Given the description of an element on the screen output the (x, y) to click on. 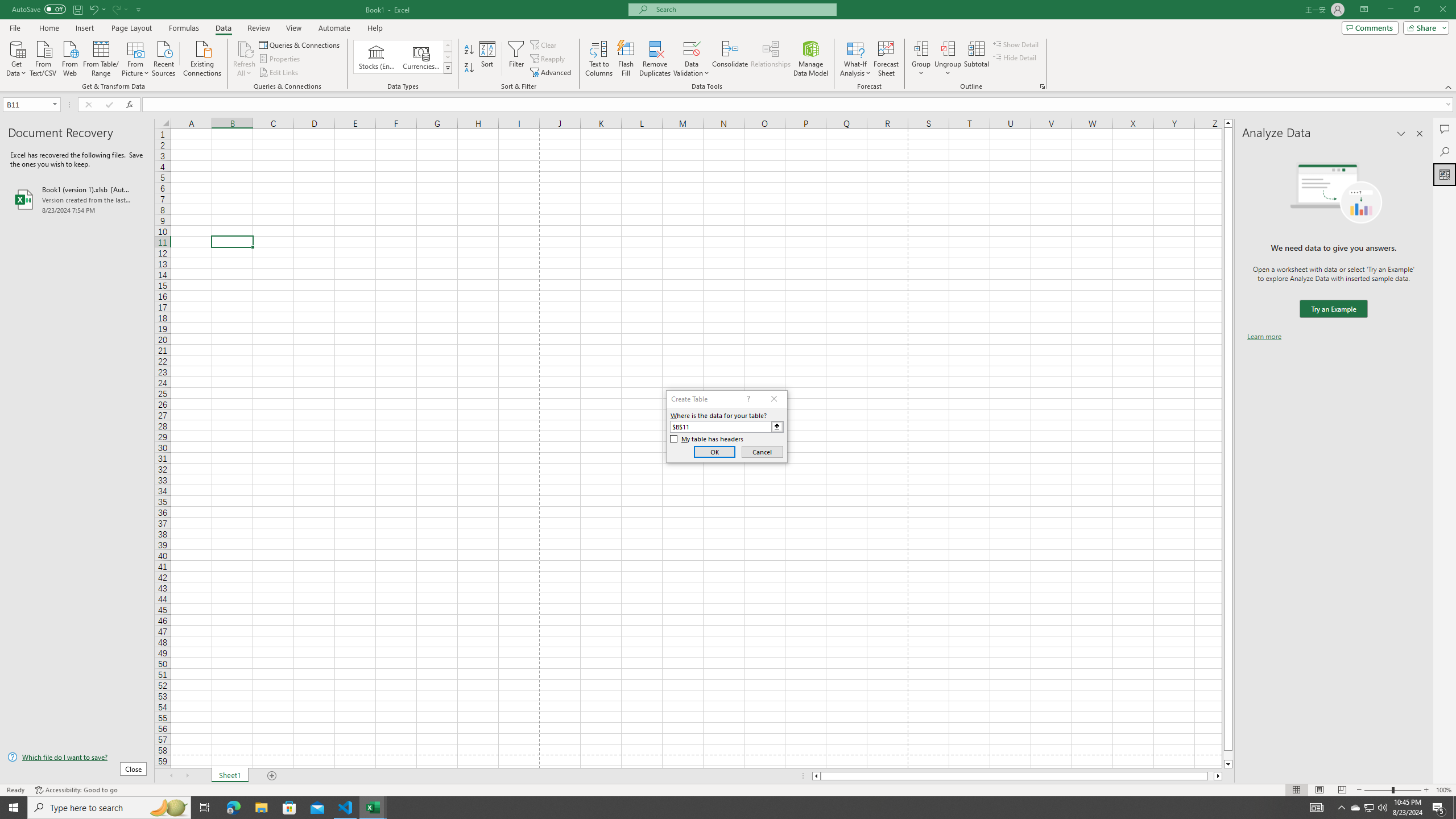
Consolidate... (729, 58)
